Given the description of an element on the screen output the (x, y) to click on. 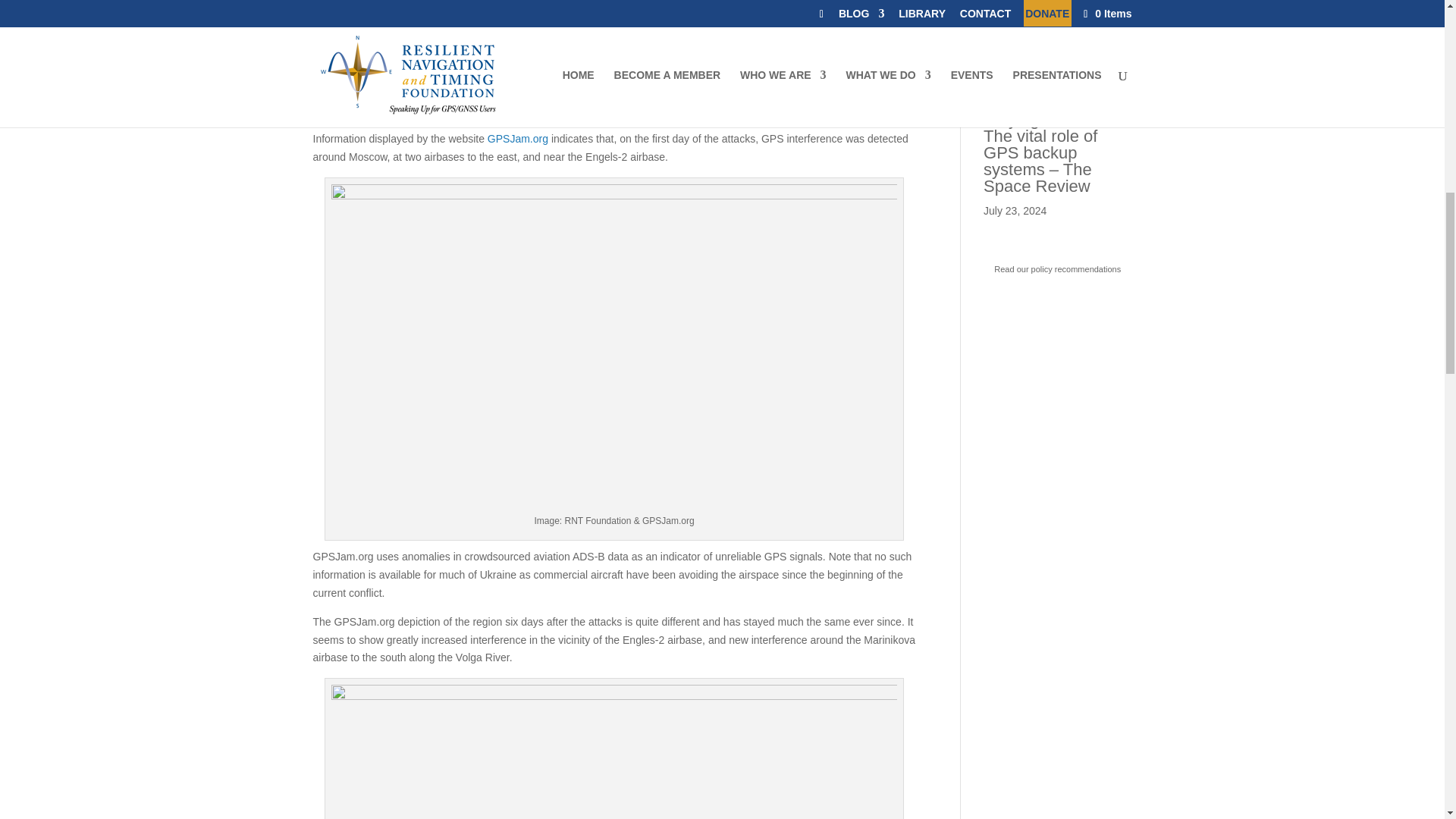
GPSJam.org (517, 138)
